Given the description of an element on the screen output the (x, y) to click on. 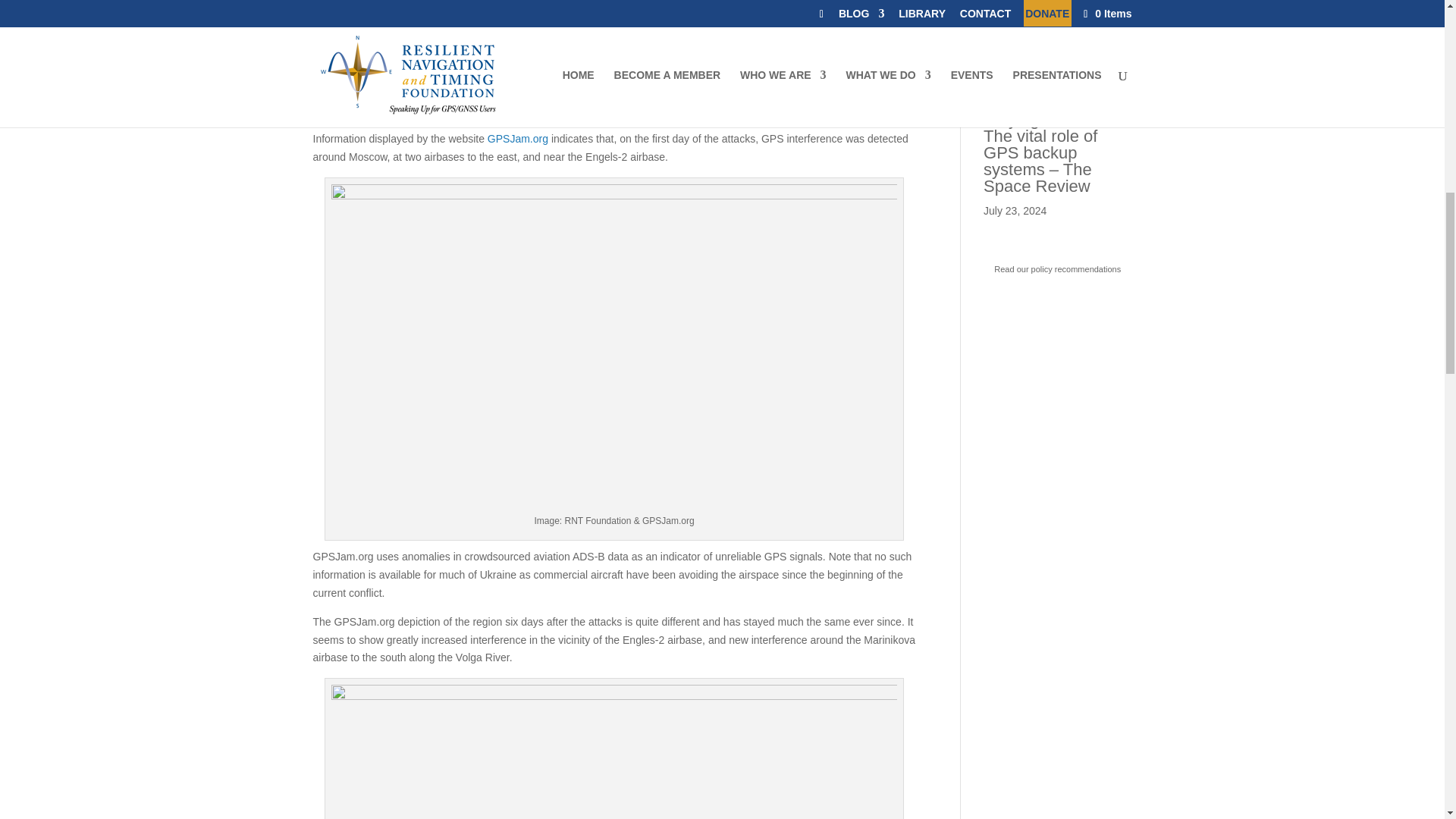
GPSJam.org (517, 138)
